Given the description of an element on the screen output the (x, y) to click on. 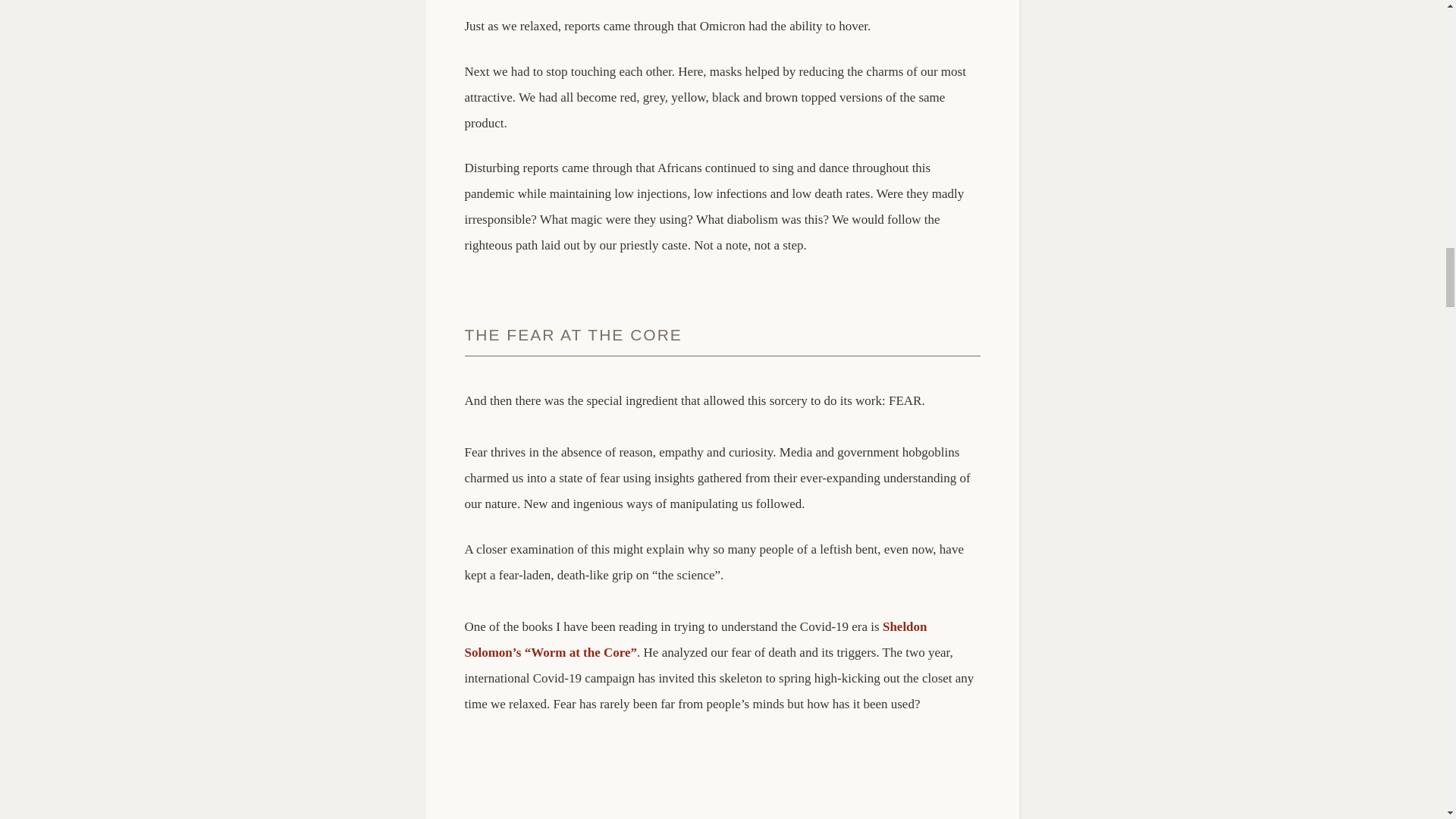
Sheldon Solomon on "The Worm at the Core" (721, 777)
